Given the description of an element on the screen output the (x, y) to click on. 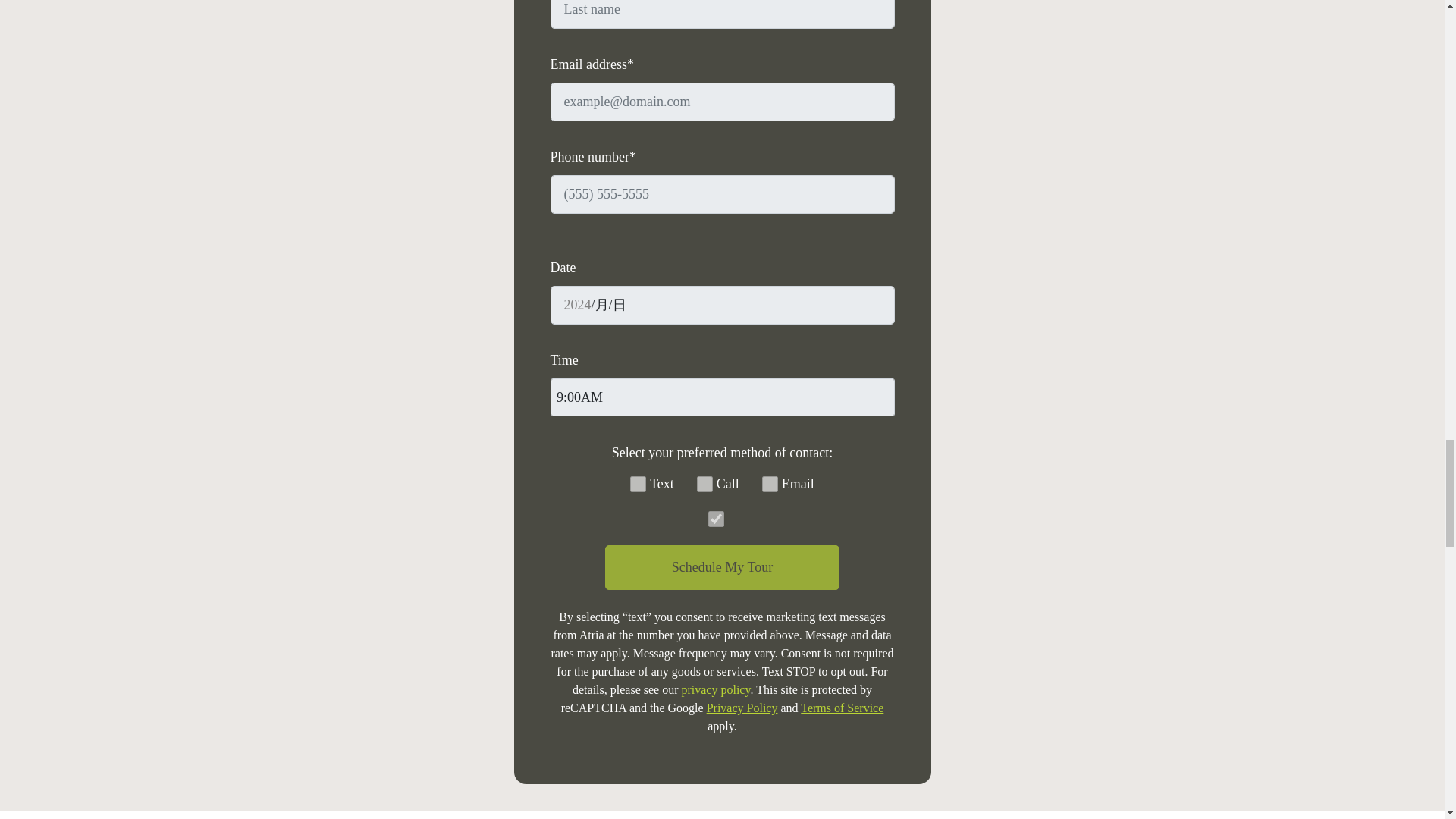
text (638, 483)
on (715, 519)
call (705, 483)
email (769, 483)
